Given the description of an element on the screen output the (x, y) to click on. 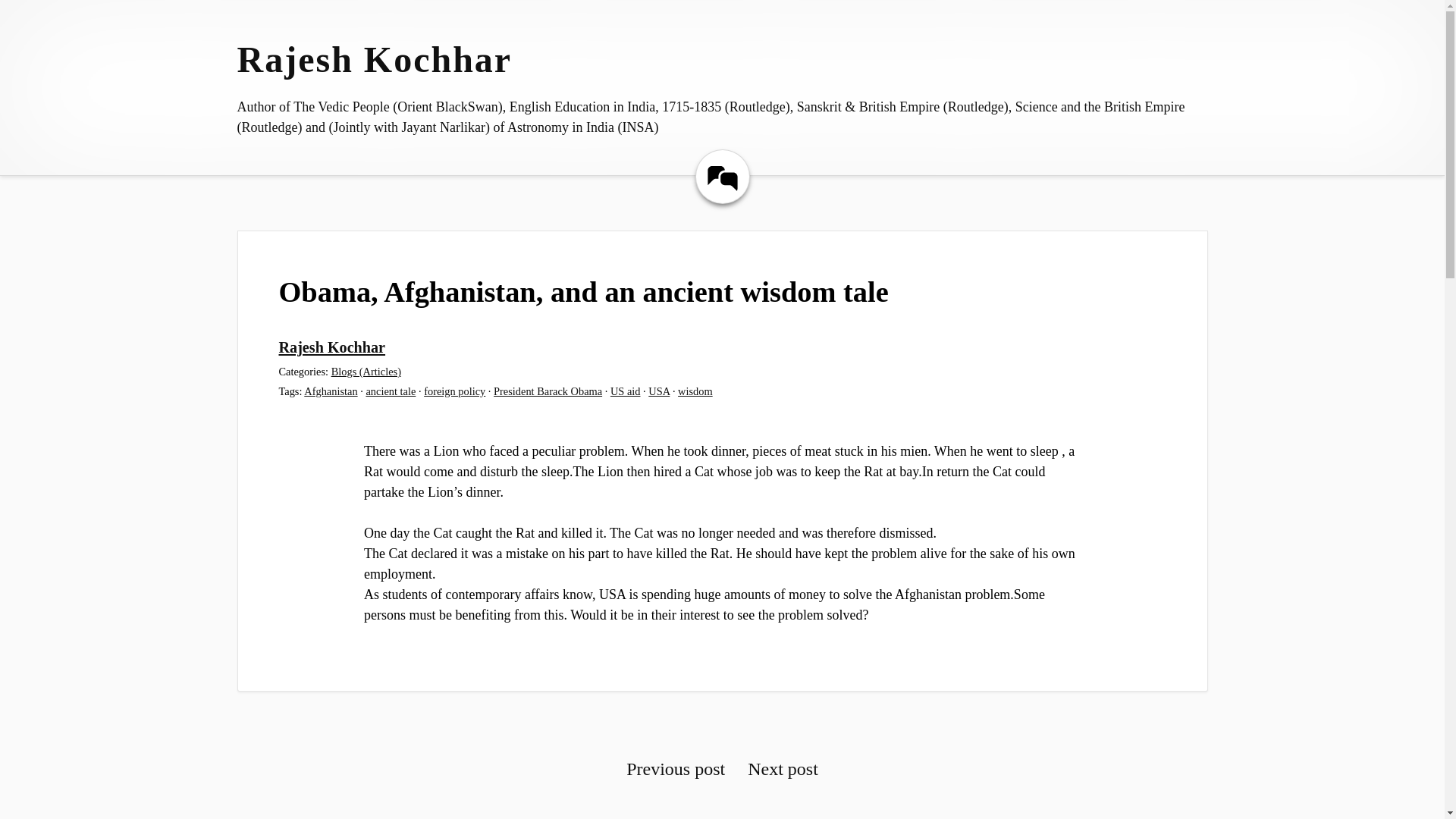
US aid (625, 390)
Next post (783, 768)
President Barack Obama (547, 390)
ancient tale (389, 390)
foreign policy (453, 390)
Afghanistan (330, 390)
USA (658, 390)
Previous post (675, 768)
Rajesh Kochhar (332, 347)
Rajesh Kochhar (373, 59)
wisdom (695, 390)
